Given the description of an element on the screen output the (x, y) to click on. 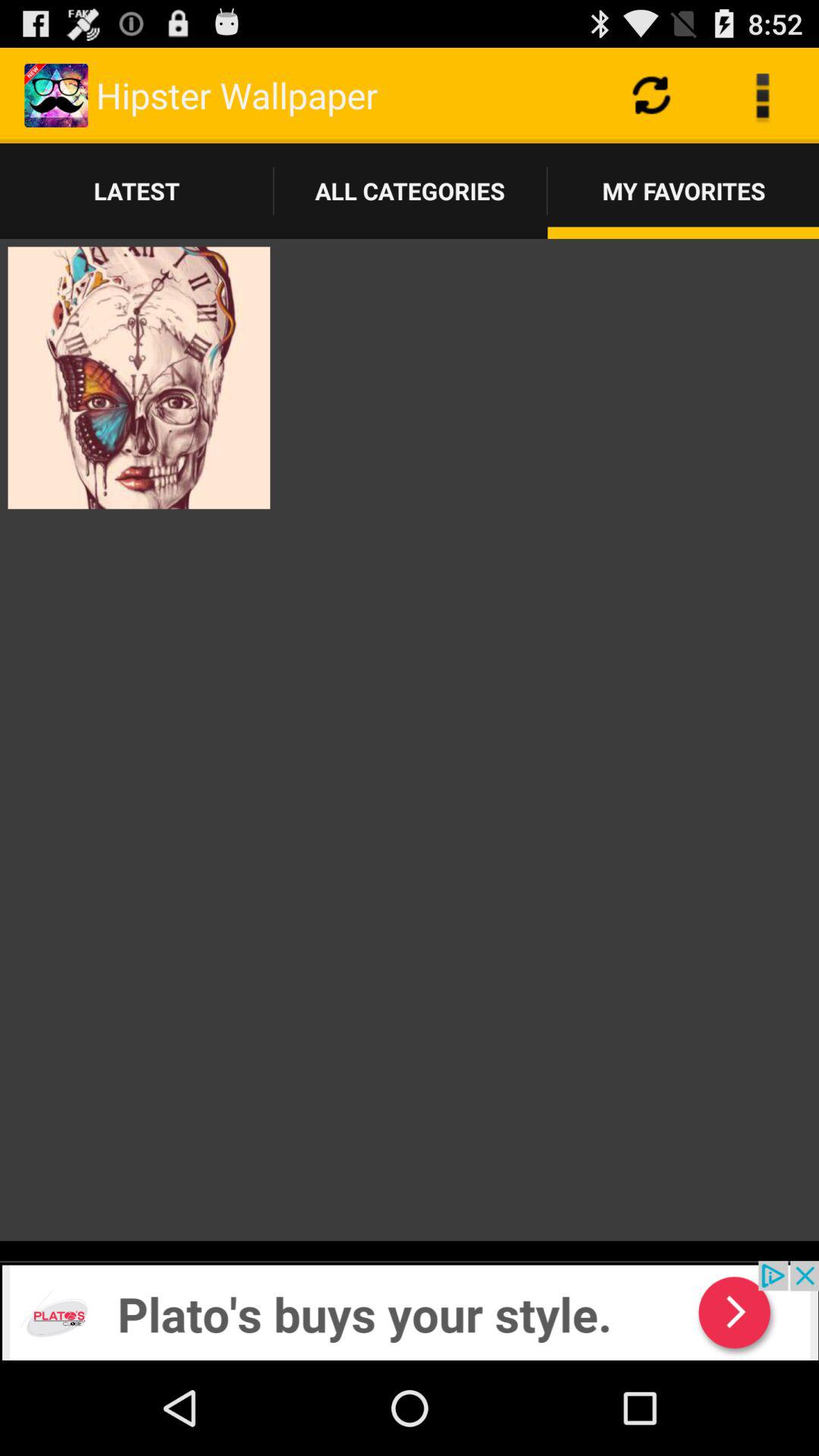
open advertisement (409, 1310)
